Given the description of an element on the screen output the (x, y) to click on. 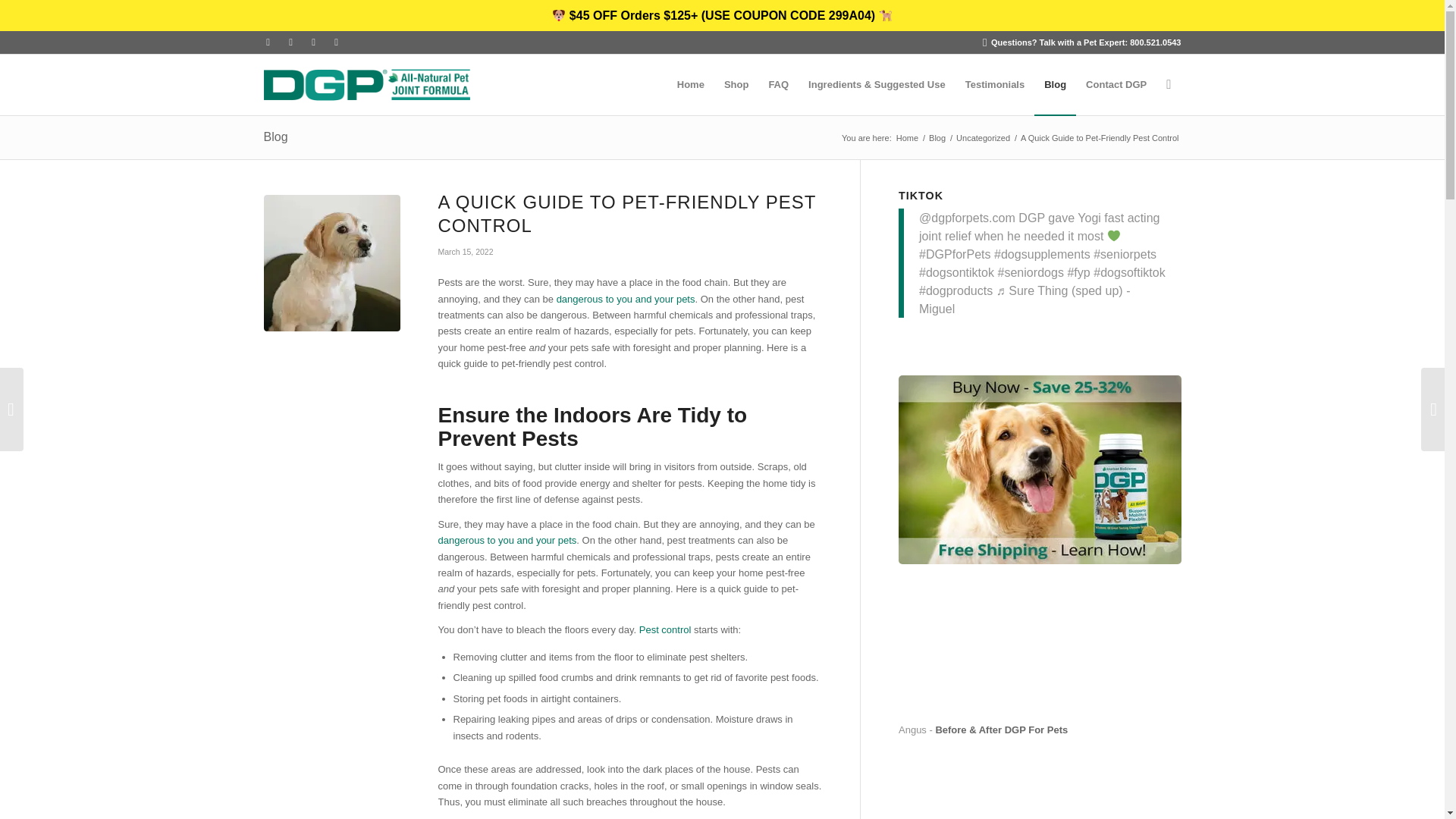
Mail (335, 42)
Testimonials (995, 84)
Contact DGP (1115, 84)
Pest control (665, 629)
Home (906, 138)
Permanent Link: Blog (275, 136)
Facebook (267, 42)
X (290, 42)
Pinterest (312, 42)
DGP For Pets (906, 138)
